Given the description of an element on the screen output the (x, y) to click on. 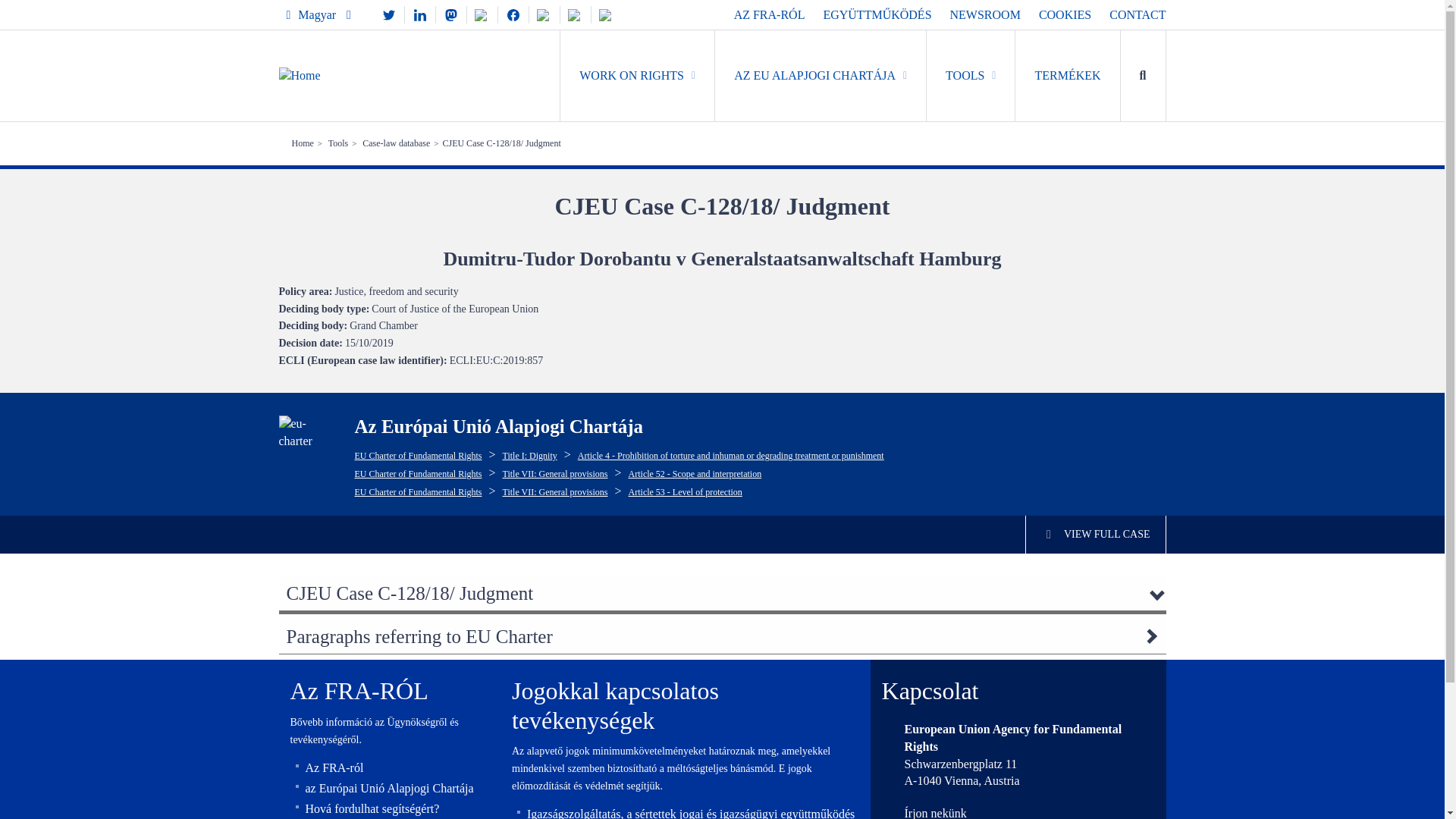
Magyar (318, 14)
FRA's Mastodon channel (450, 13)
Mastodon (450, 13)
NEWSROOM (985, 14)
COOKIES (1064, 14)
Twitter (389, 13)
CONTACT (1137, 14)
FRA's Facebook channel (512, 13)
Facebook (512, 13)
